Given the description of an element on the screen output the (x, y) to click on. 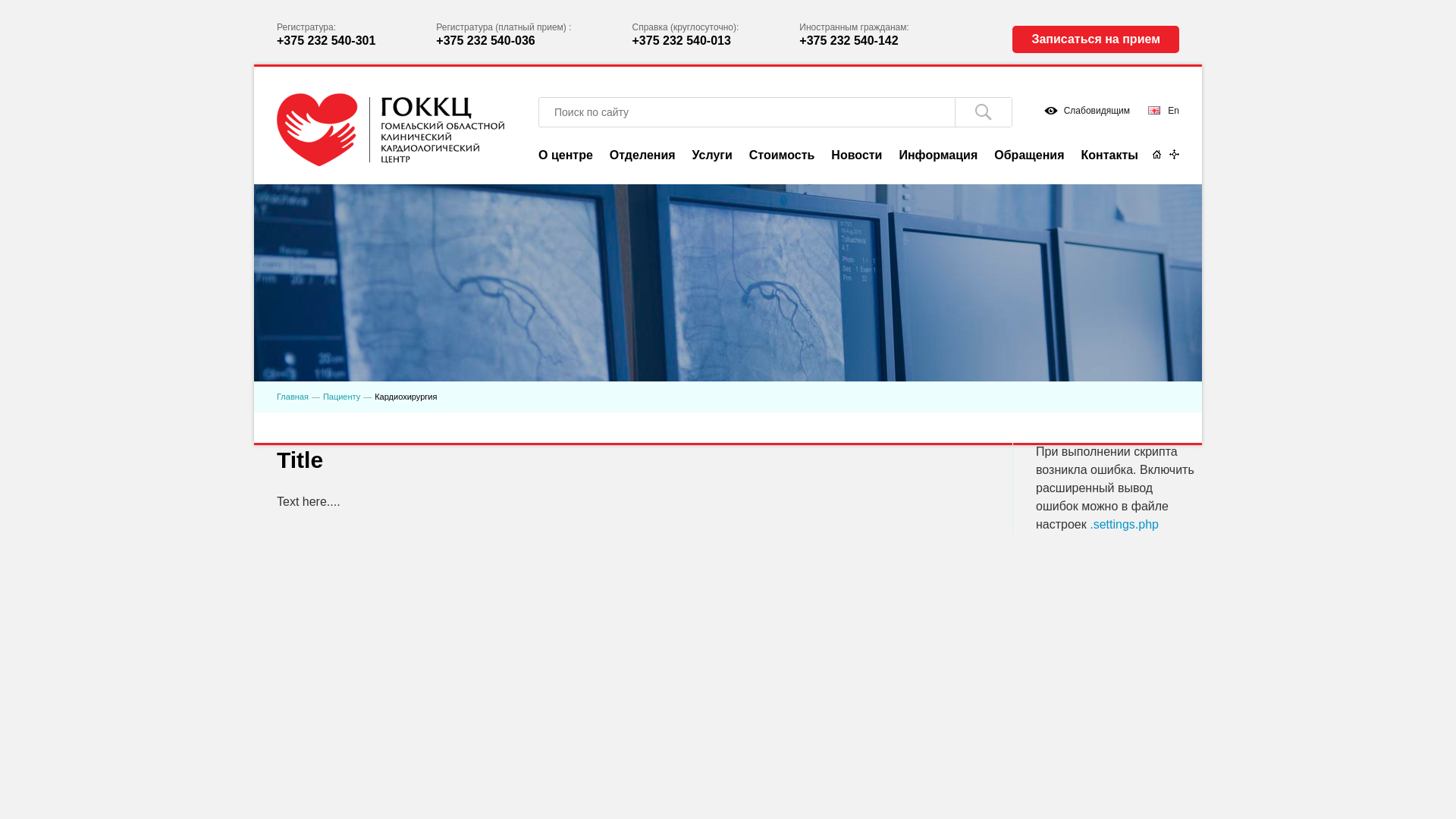
  Element type: text (982, 111)
+375 232 540-013 Element type: text (681, 40)
+375 232 540-036 Element type: text (485, 40)
+375 232 540-142 Element type: text (848, 40)
+375 232 540-301 Element type: text (325, 40)
.settings.php Element type: text (1123, 523)
En Element type: text (1163, 110)
